Given the description of an element on the screen output the (x, y) to click on. 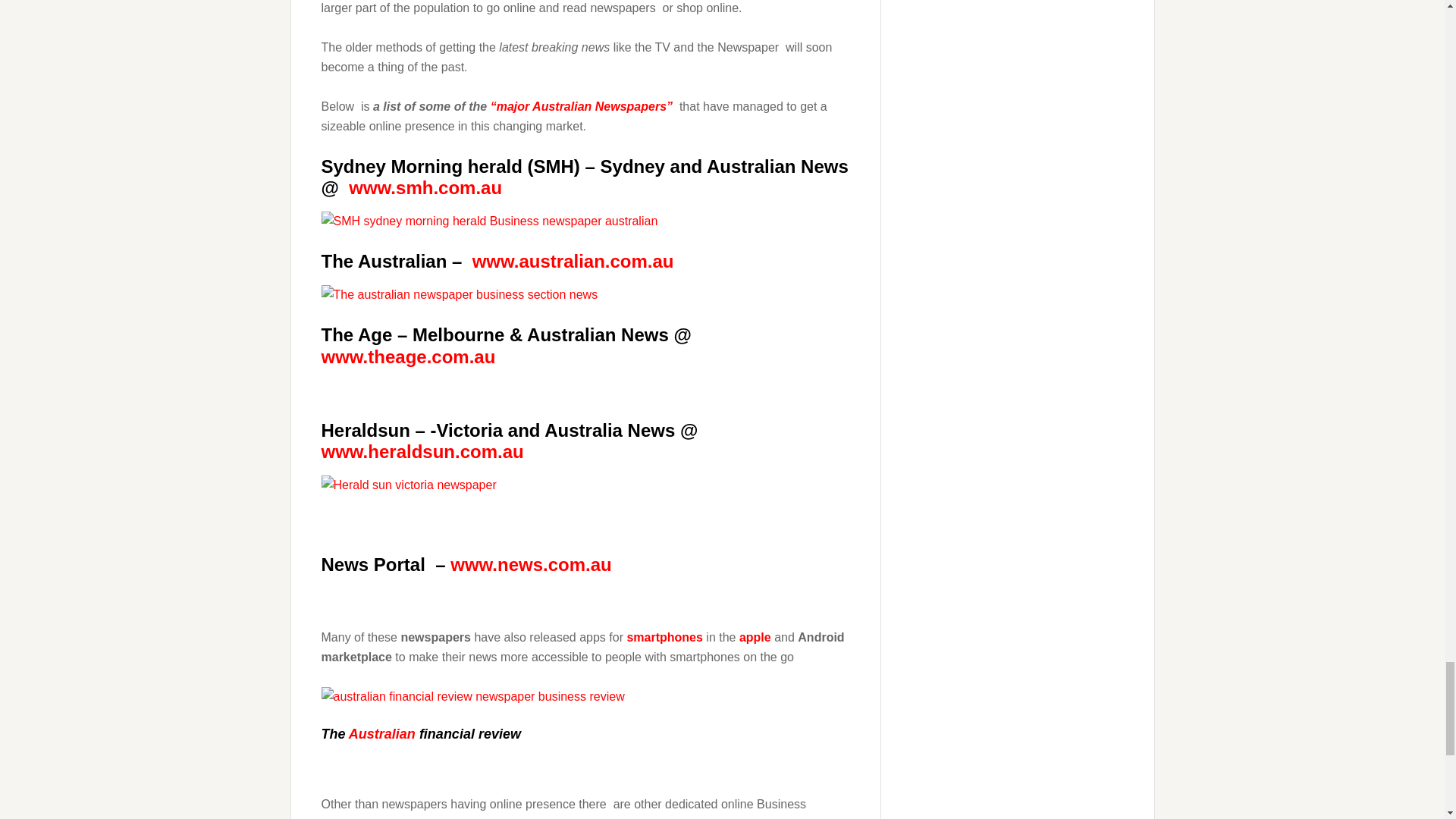
SMH sydney morning herald newspaper  australian (489, 220)
australian financial review  newspaper business review (472, 696)
The australian newspaper business section news (459, 294)
Herald sun  victoria newspaper (408, 485)
